Given the description of an element on the screen output the (x, y) to click on. 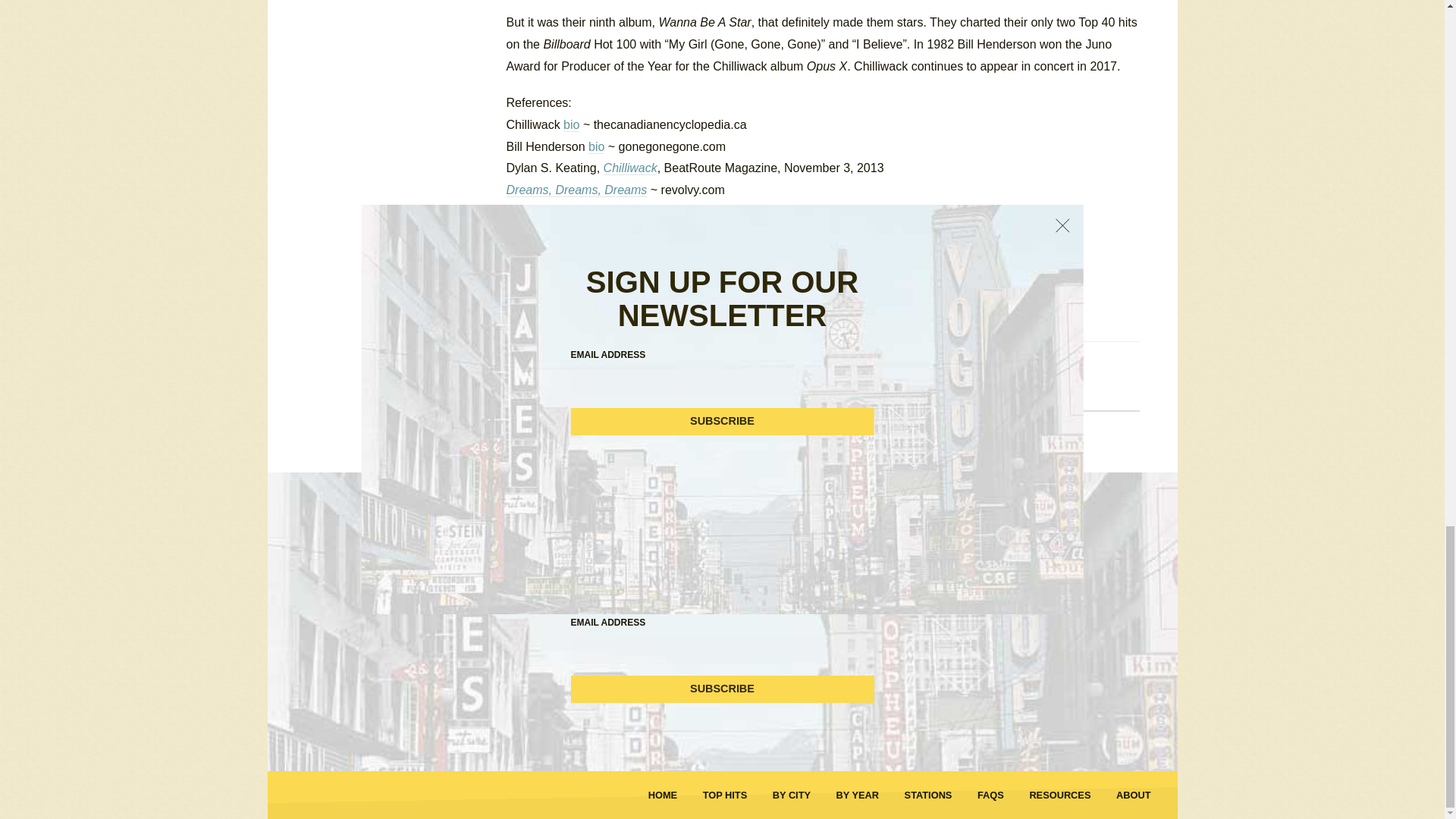
Dreams, Dreams, Dreams (576, 190)
Countdown (707, 292)
STATIONS (928, 794)
ABOUT (1133, 794)
HOME (662, 794)
TOP HITS (725, 794)
BY YEAR (857, 794)
Cruel Camera (544, 212)
bio (571, 124)
